Given the description of an element on the screen output the (x, y) to click on. 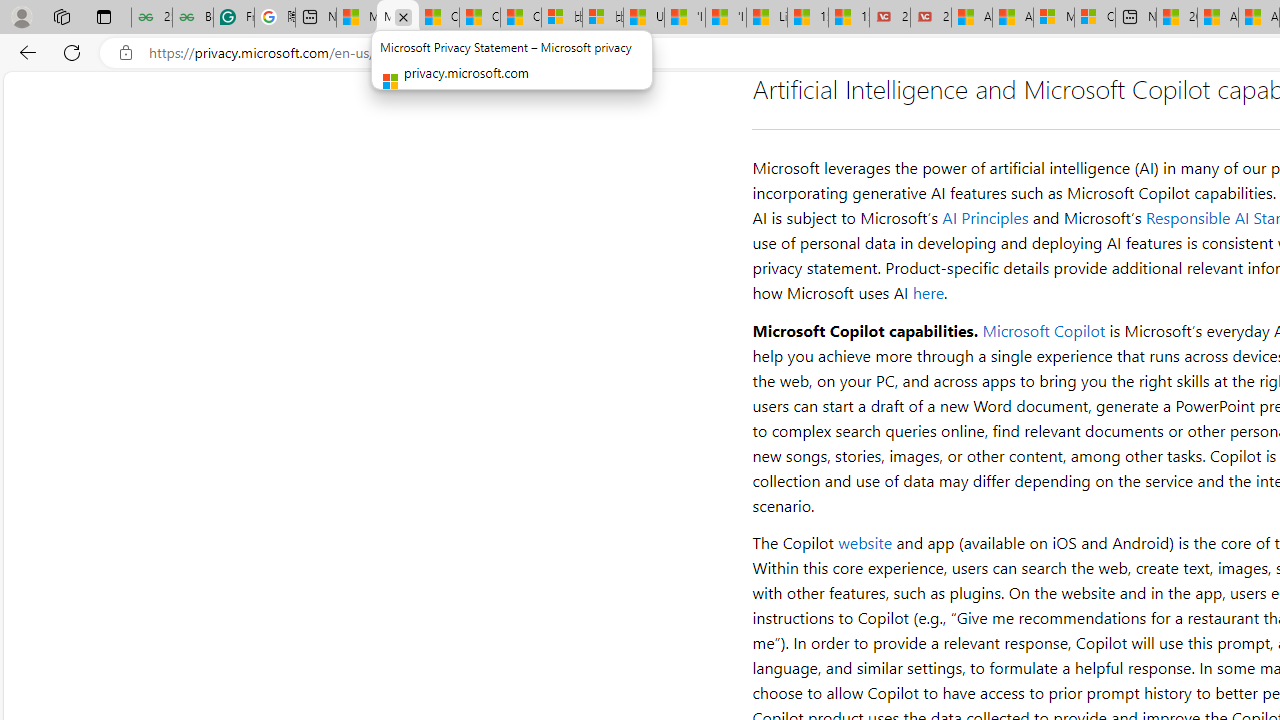
20 Ways to Boost Your Protein Intake at Every Meal (1176, 17)
here (927, 292)
USA TODAY - MSN (643, 17)
Cloud Computing Services | Microsoft Azure (1094, 17)
website (865, 542)
21 Movies That Outdid the Books They Were Based On (931, 17)
AI Principles (985, 217)
